Given the description of an element on the screen output the (x, y) to click on. 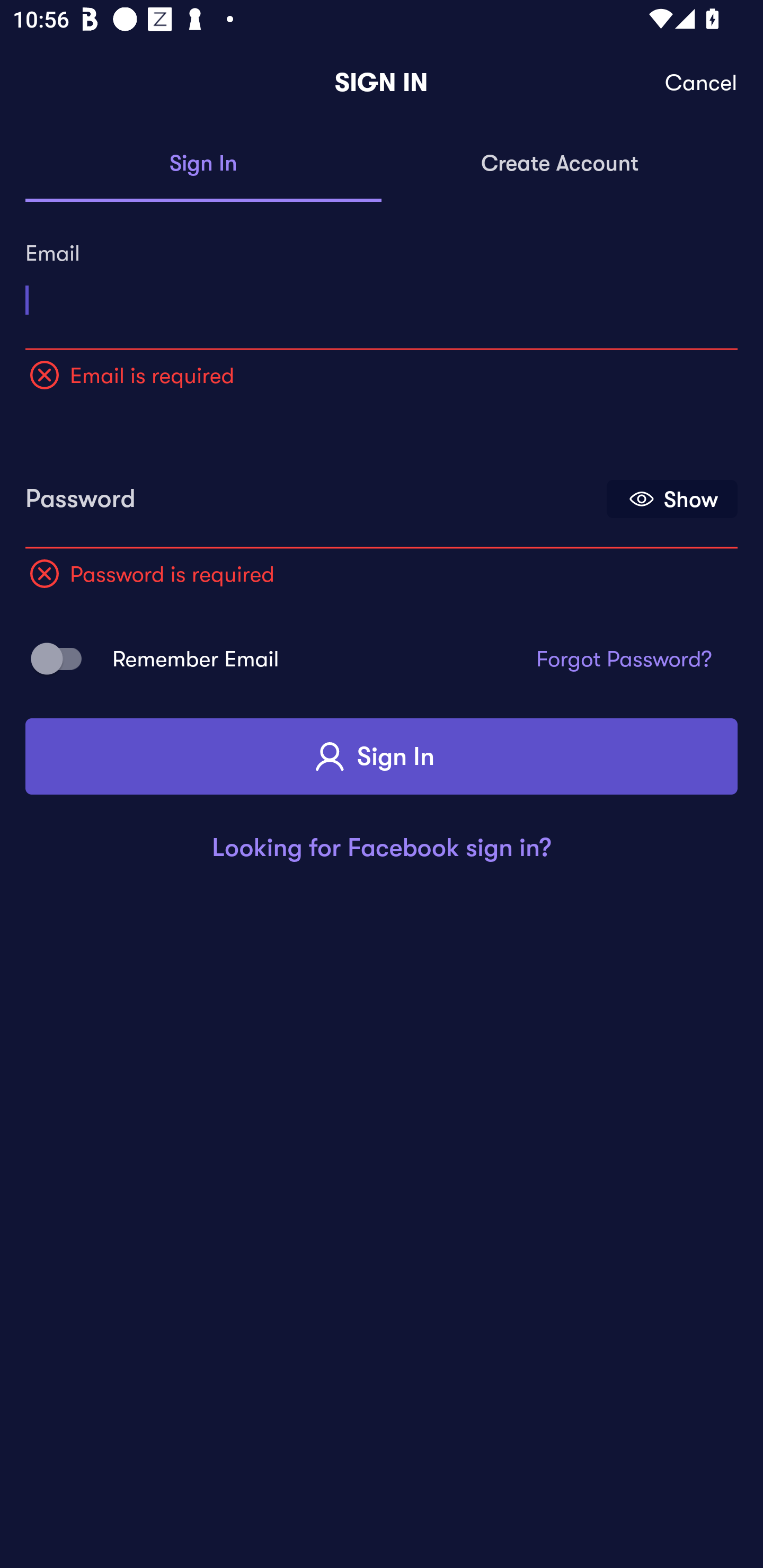
Cancel (701, 82)
Sign In (203, 164)
Create Account (559, 164)
Email, error message, Email is required (381, 293)
Password, error message, Password is required (314, 493)
Show Password Show (671, 498)
Remember Email (62, 658)
Sign In (381, 756)
